Given the description of an element on the screen output the (x, y) to click on. 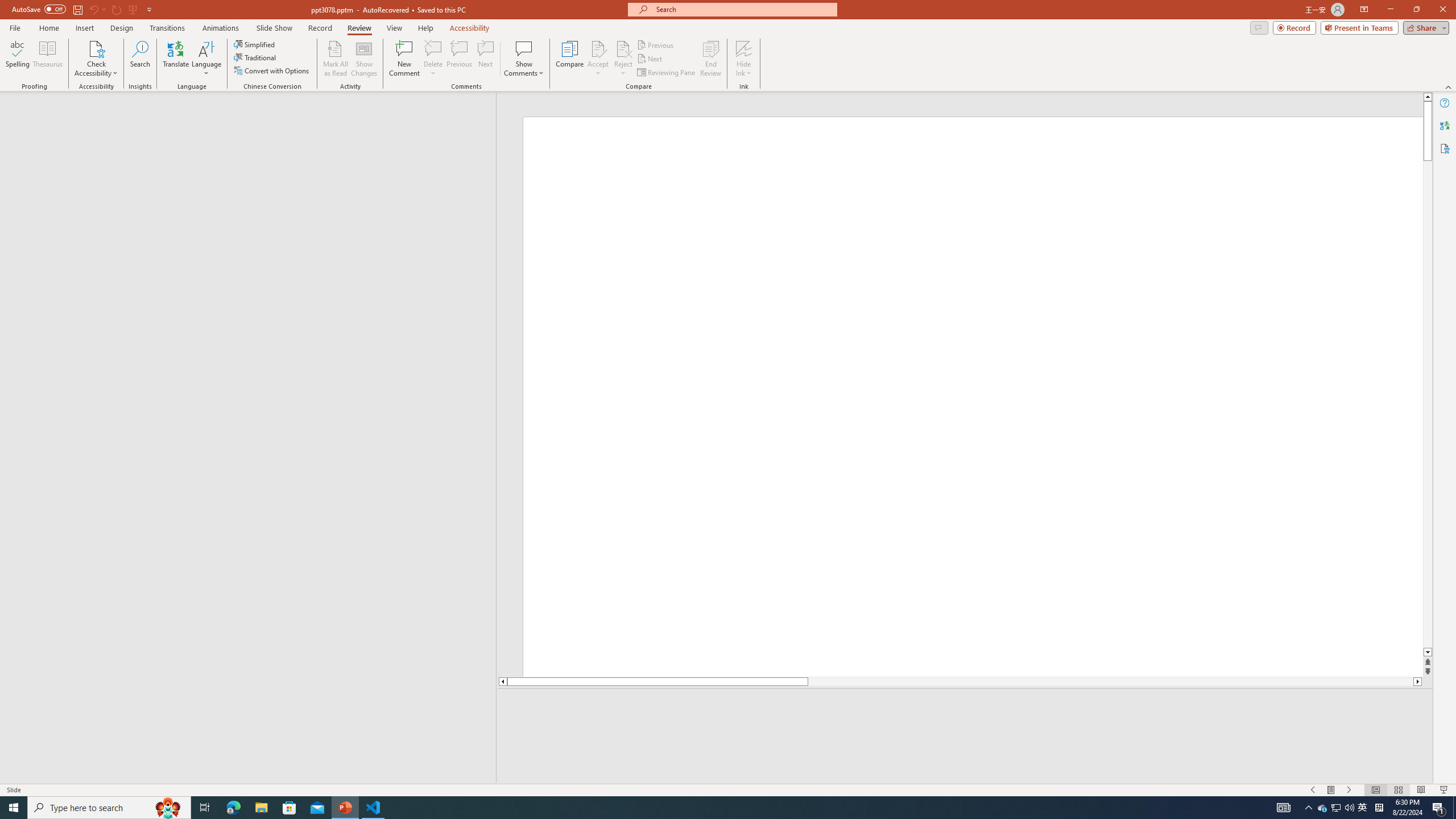
Simplified (254, 44)
